Given the description of an element on the screen output the (x, y) to click on. 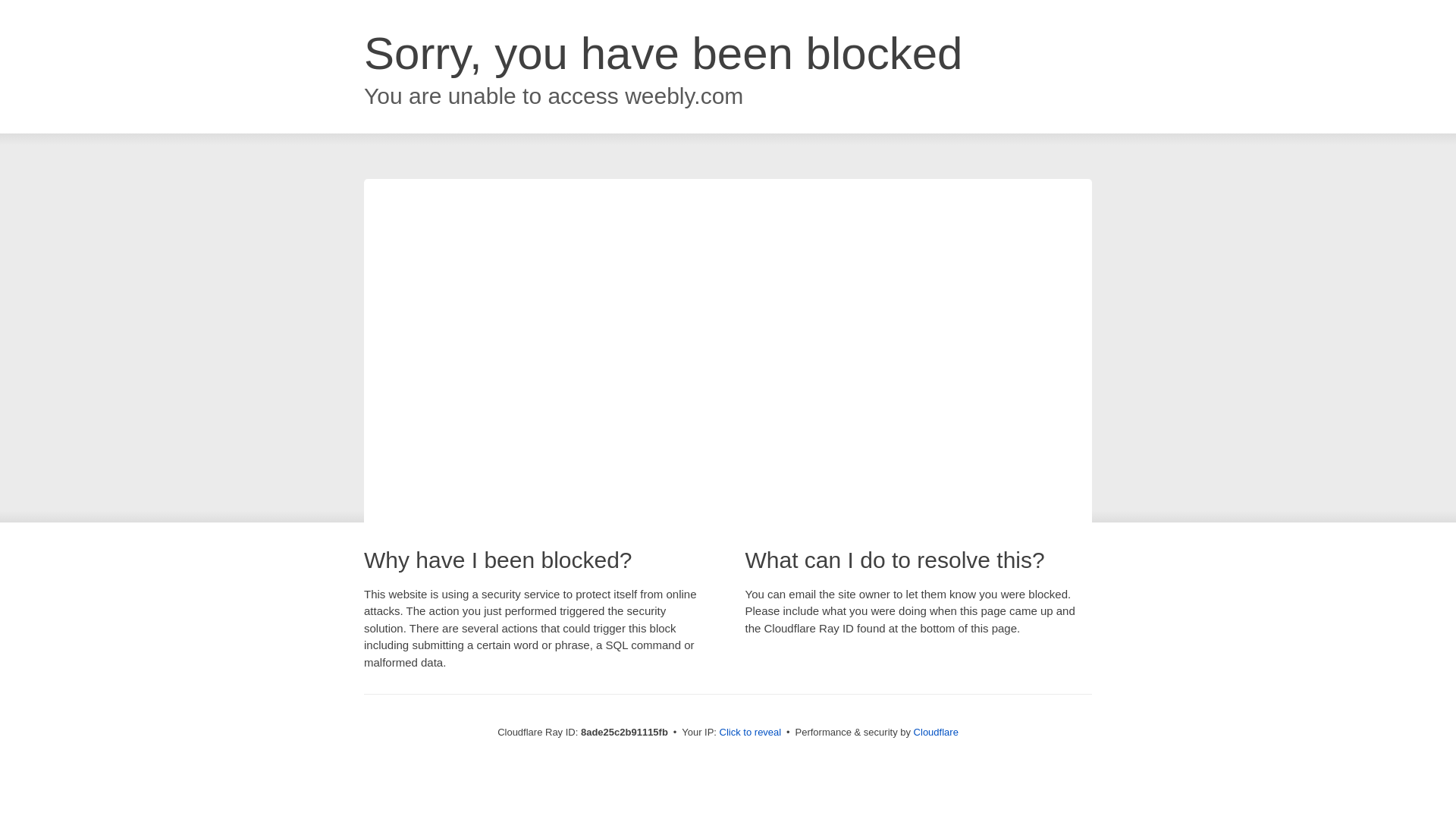
Click to reveal (750, 732)
Cloudflare (936, 731)
